Given the description of an element on the screen output the (x, y) to click on. 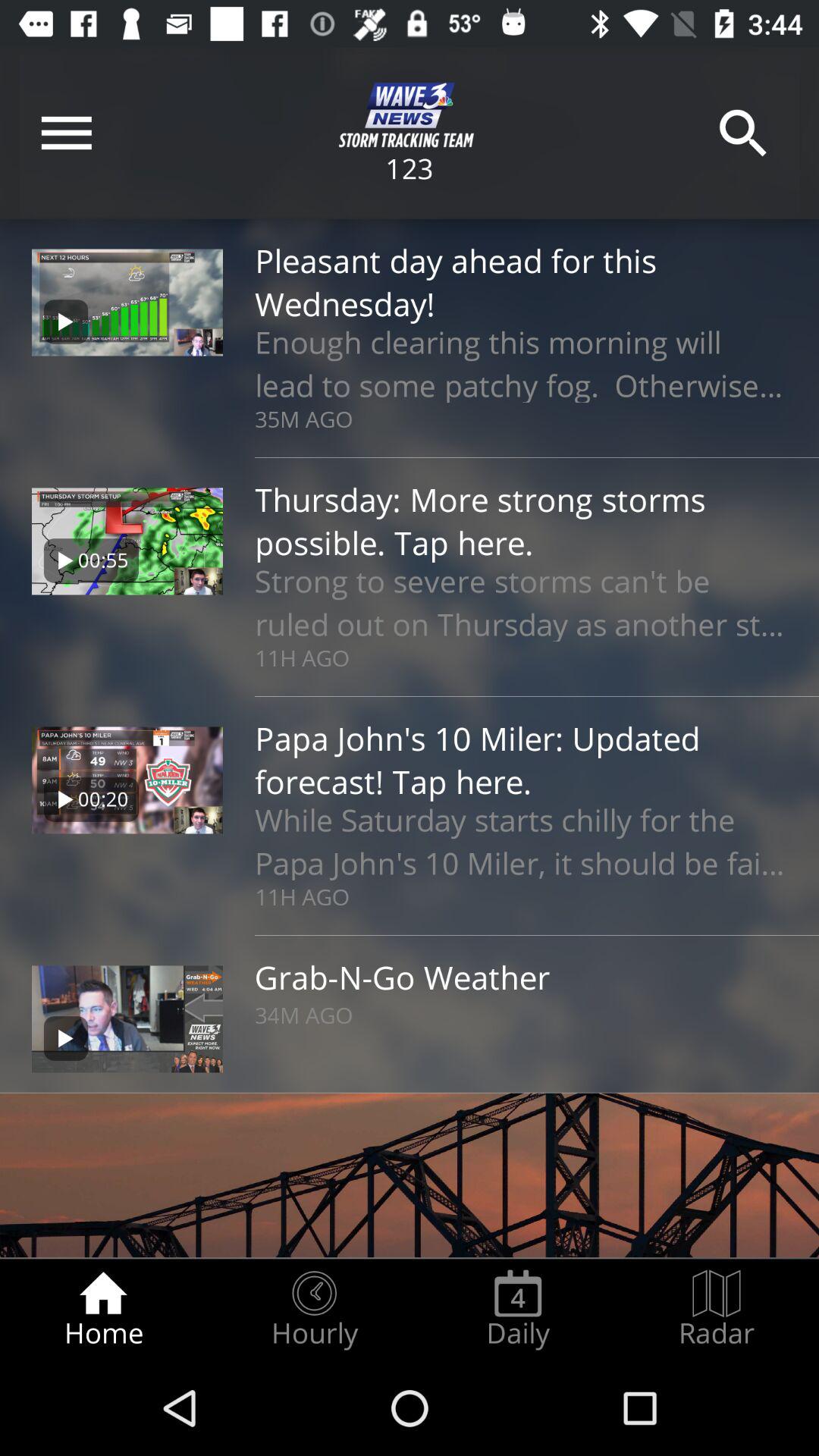
turn off icon to the left of daily radio button (314, 1309)
